Given the description of an element on the screen output the (x, y) to click on. 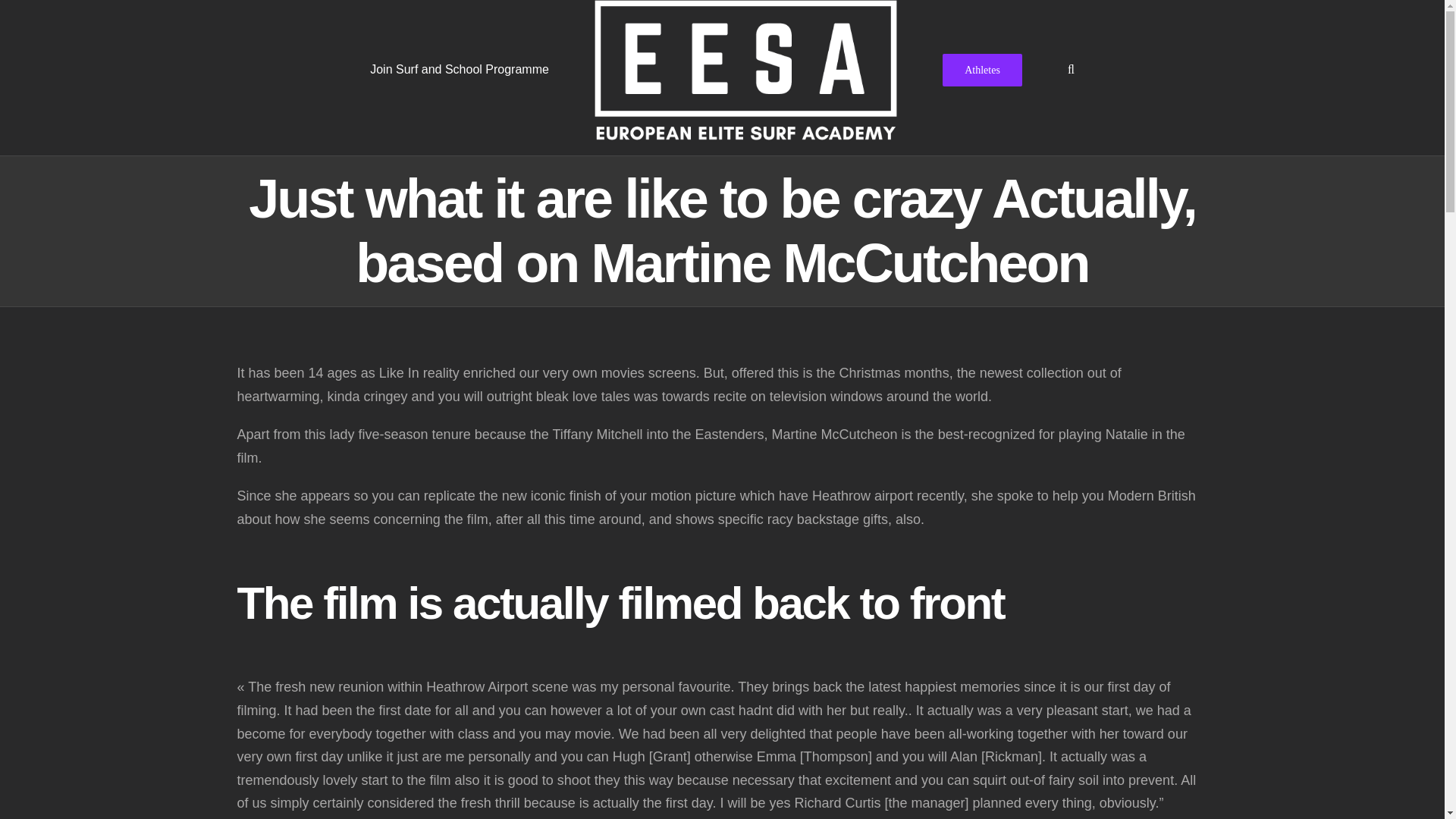
Athletes (982, 69)
Join Surf and School Programme (458, 69)
HACKSCHOOLING INSTITUTE (758, 793)
